Given the description of an element on the screen output the (x, y) to click on. 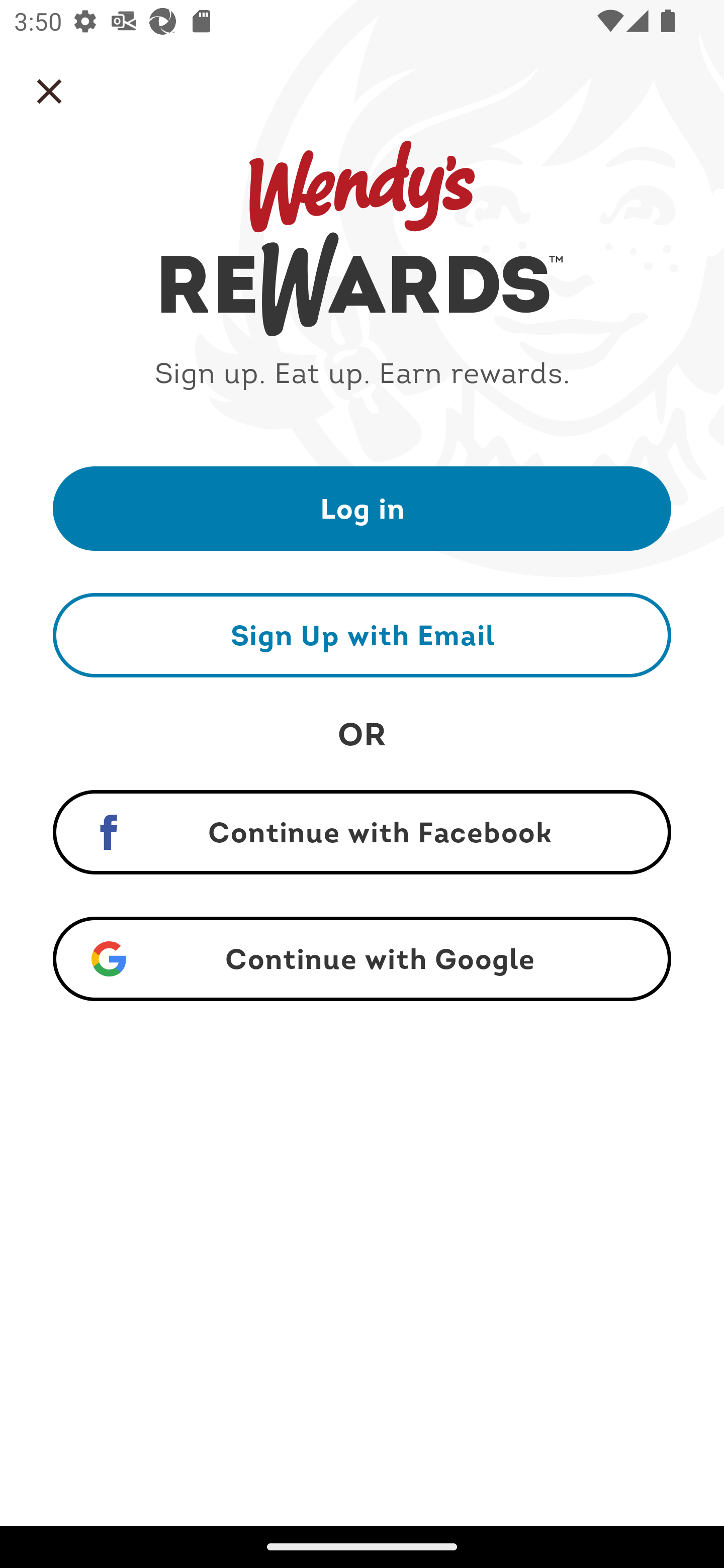
close (49, 91)
Log in (361, 507)
Sign Up with Email (361, 634)
Continue with Facebook (361, 832)
Continue with Google (361, 958)
